Given the description of an element on the screen output the (x, y) to click on. 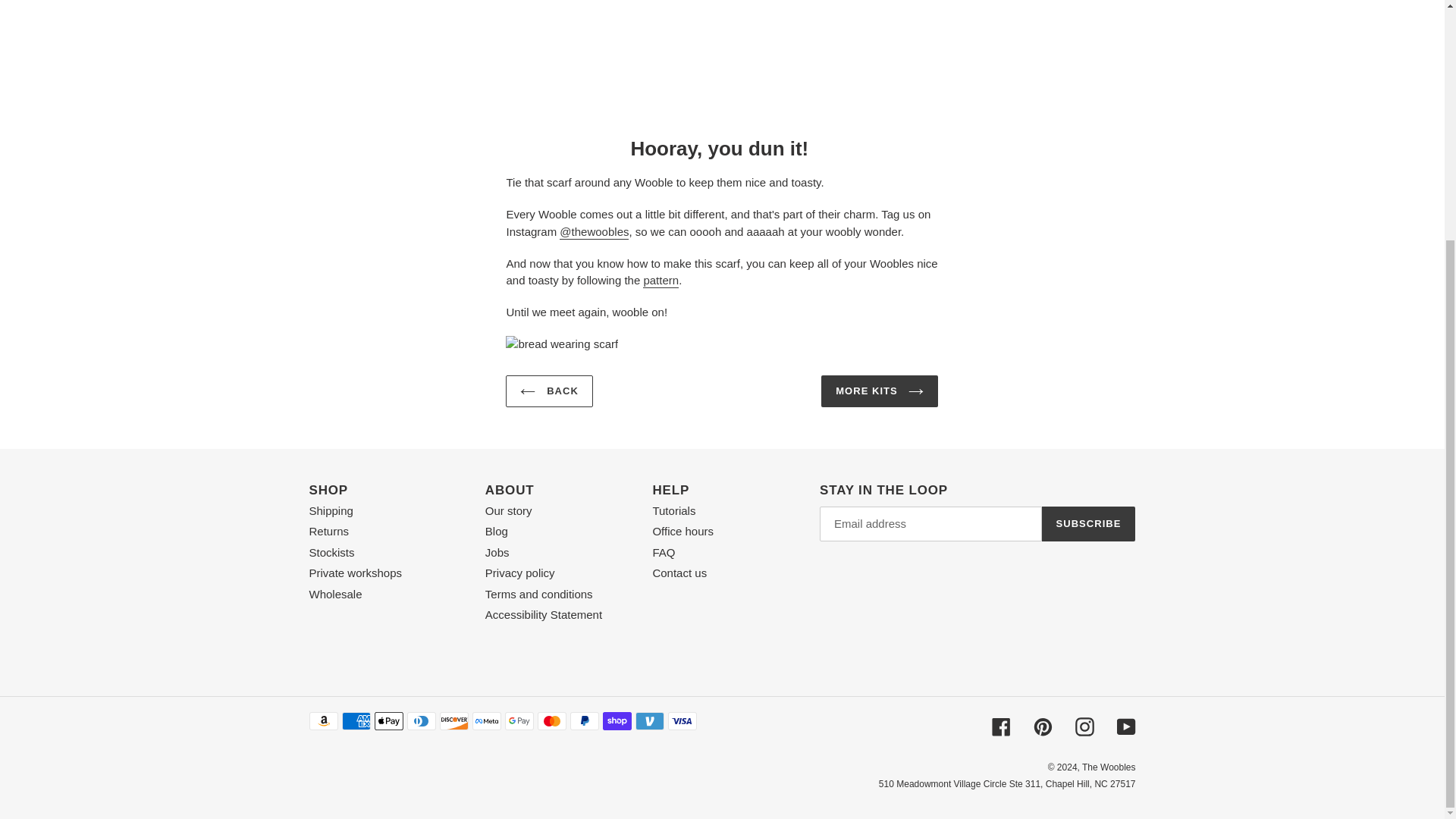
American Express (354, 720)
Apple Pay (388, 720)
Amazon (322, 720)
Discover (453, 720)
Mastercard (551, 720)
Shop Pay (616, 720)
tiny scarf pattern (660, 280)
Meta Pay (485, 720)
woobles instagram (593, 232)
Venmo (648, 720)
